Given the description of an element on the screen output the (x, y) to click on. 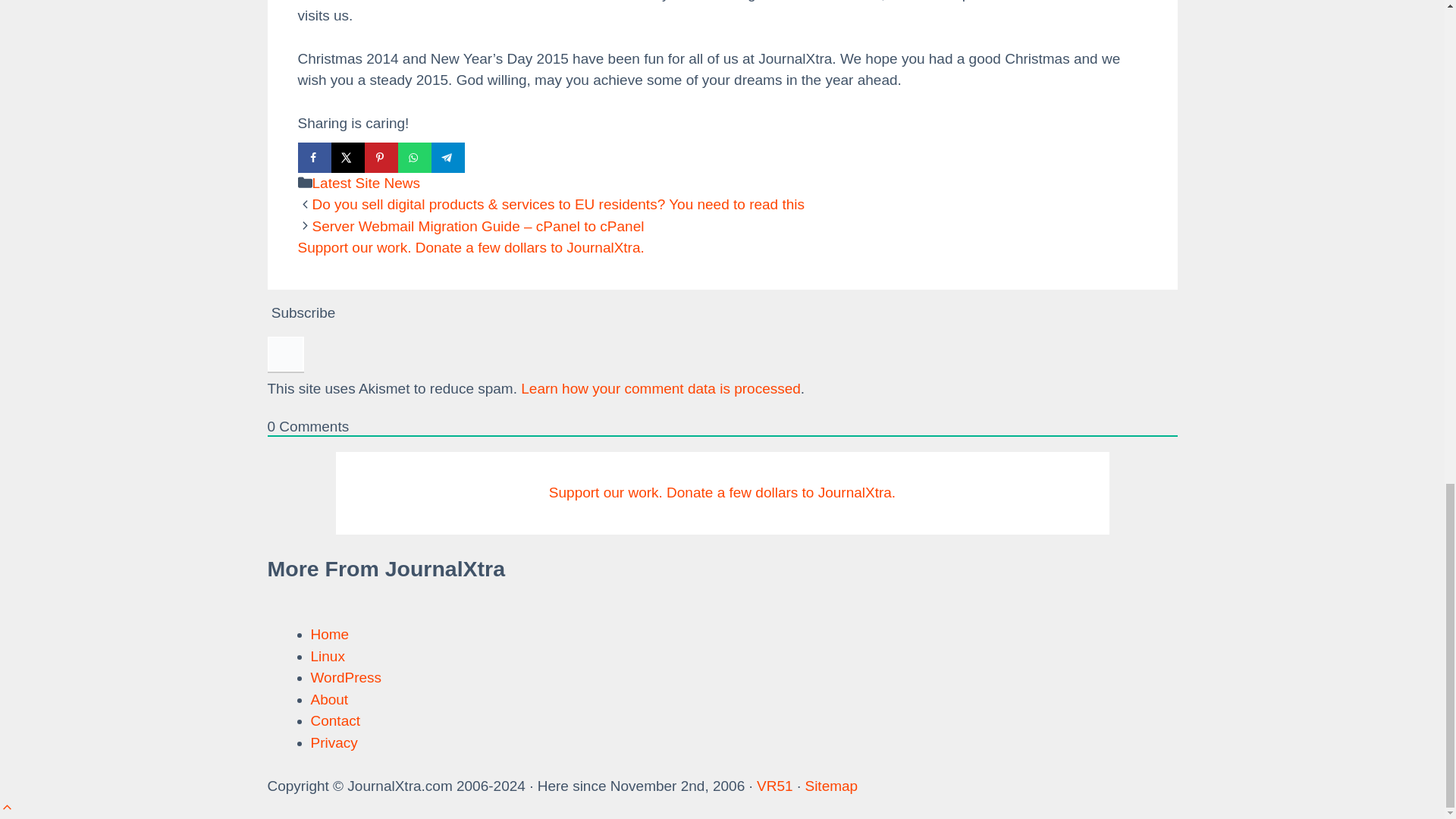
Share on Facebook (313, 157)
Send over email (480, 157)
Support our work. Donate a few dollars to JournalXtra. (470, 247)
Share on Telegram (447, 157)
Share on X (347, 157)
Share on WhatsApp (413, 157)
Latest Site News (366, 182)
Save to Pinterest (380, 157)
